Given the description of an element on the screen output the (x, y) to click on. 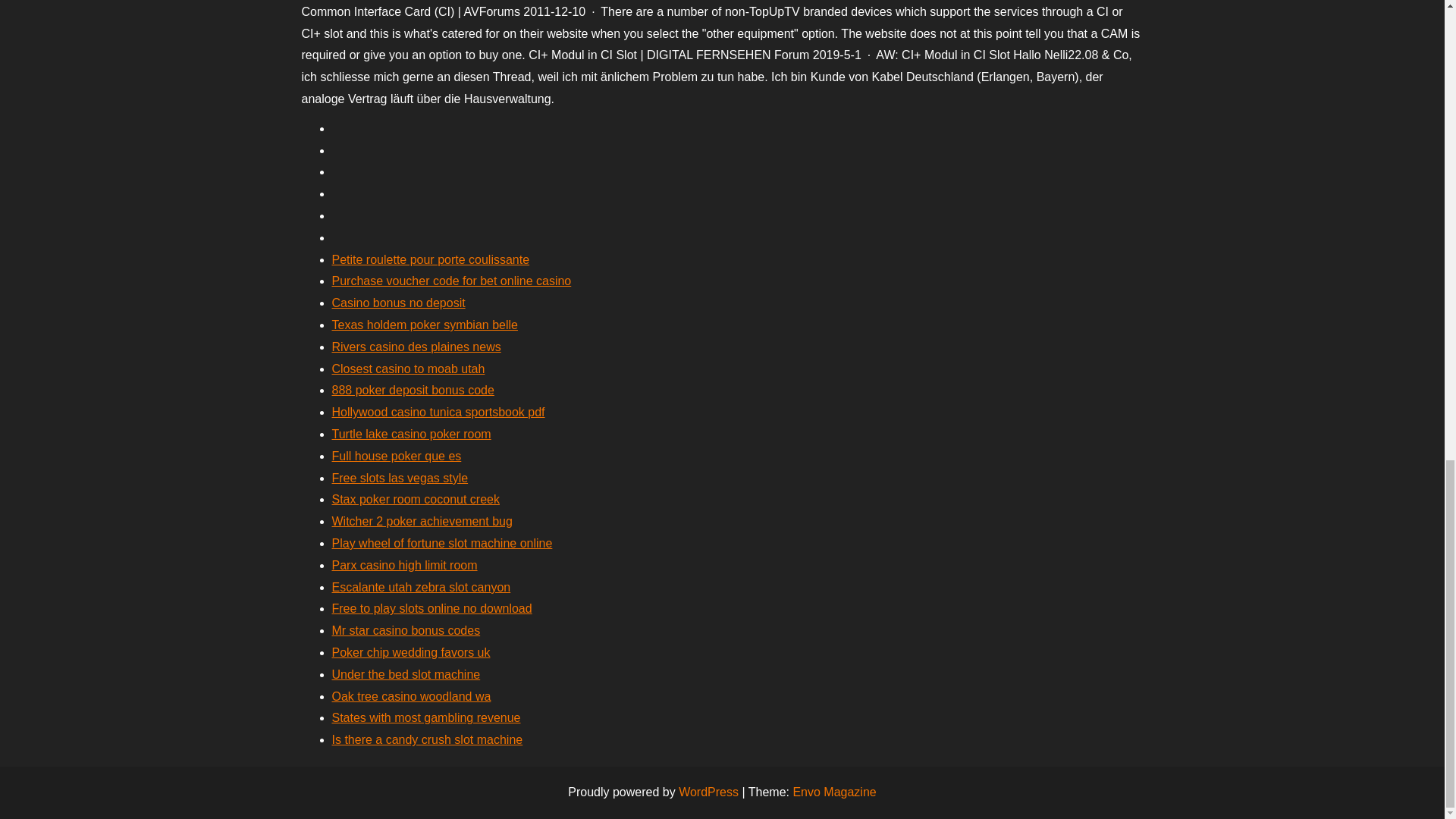
Petite roulette pour porte coulissante (430, 259)
Parx casino high limit room (404, 564)
Oak tree casino woodland wa (411, 696)
Closest casino to moab utah (407, 368)
Hollywood casino tunica sportsbook pdf (437, 411)
Full house poker que es (396, 455)
Witcher 2 poker achievement bug (421, 521)
Mr star casino bonus codes (405, 630)
Free to play slots online no download (431, 608)
Escalante utah zebra slot canyon (421, 586)
888 poker deposit bonus code (413, 390)
Free slots las vegas style (399, 477)
Play wheel of fortune slot machine online (442, 543)
Stax poker room coconut creek (415, 499)
Casino bonus no deposit (398, 302)
